Given the description of an element on the screen output the (x, y) to click on. 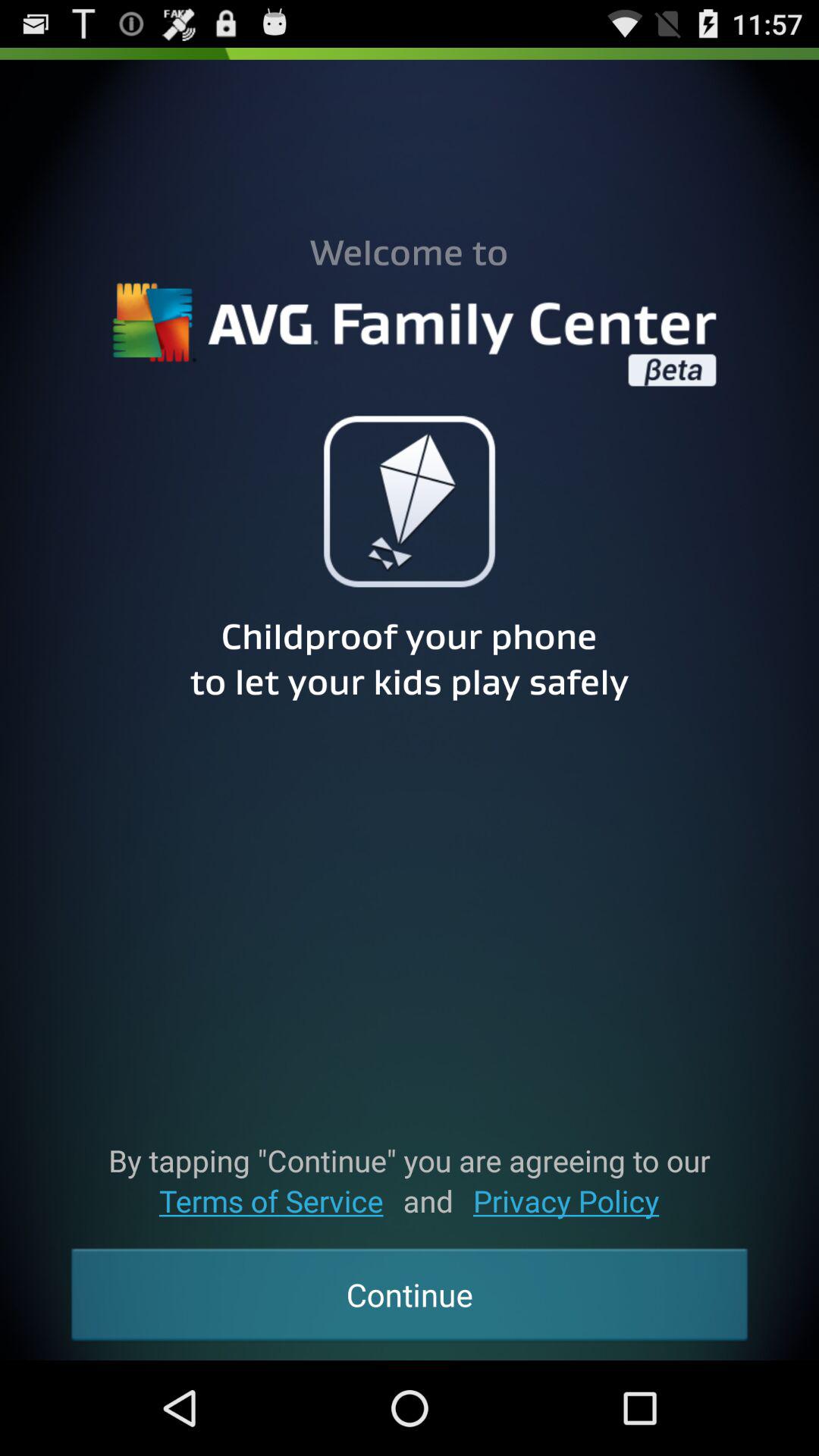
open the app at the bottom left corner (271, 1200)
